Given the description of an element on the screen output the (x, y) to click on. 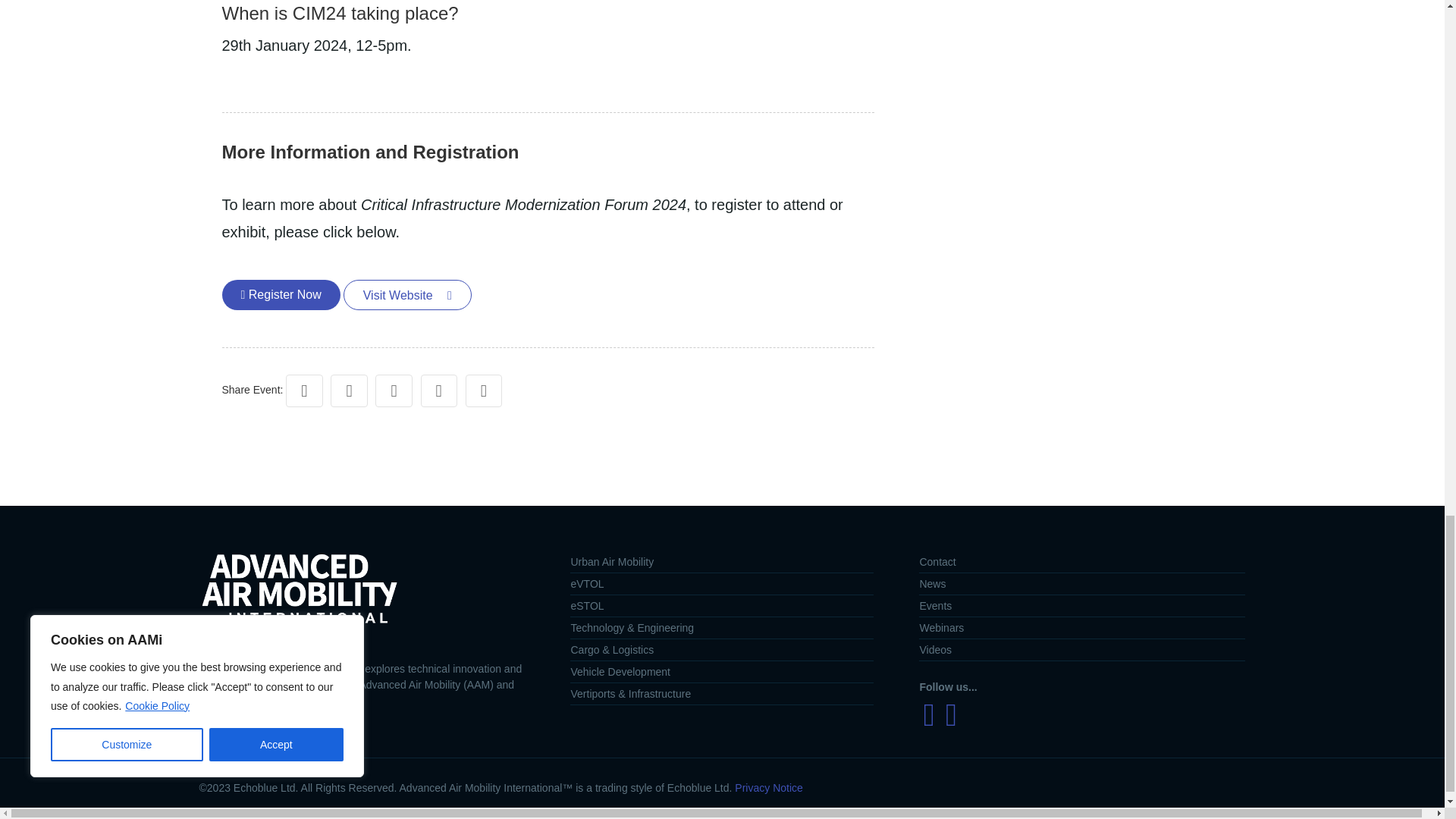
Visit Website (407, 295)
Register Now (280, 295)
